Given the description of an element on the screen output the (x, y) to click on. 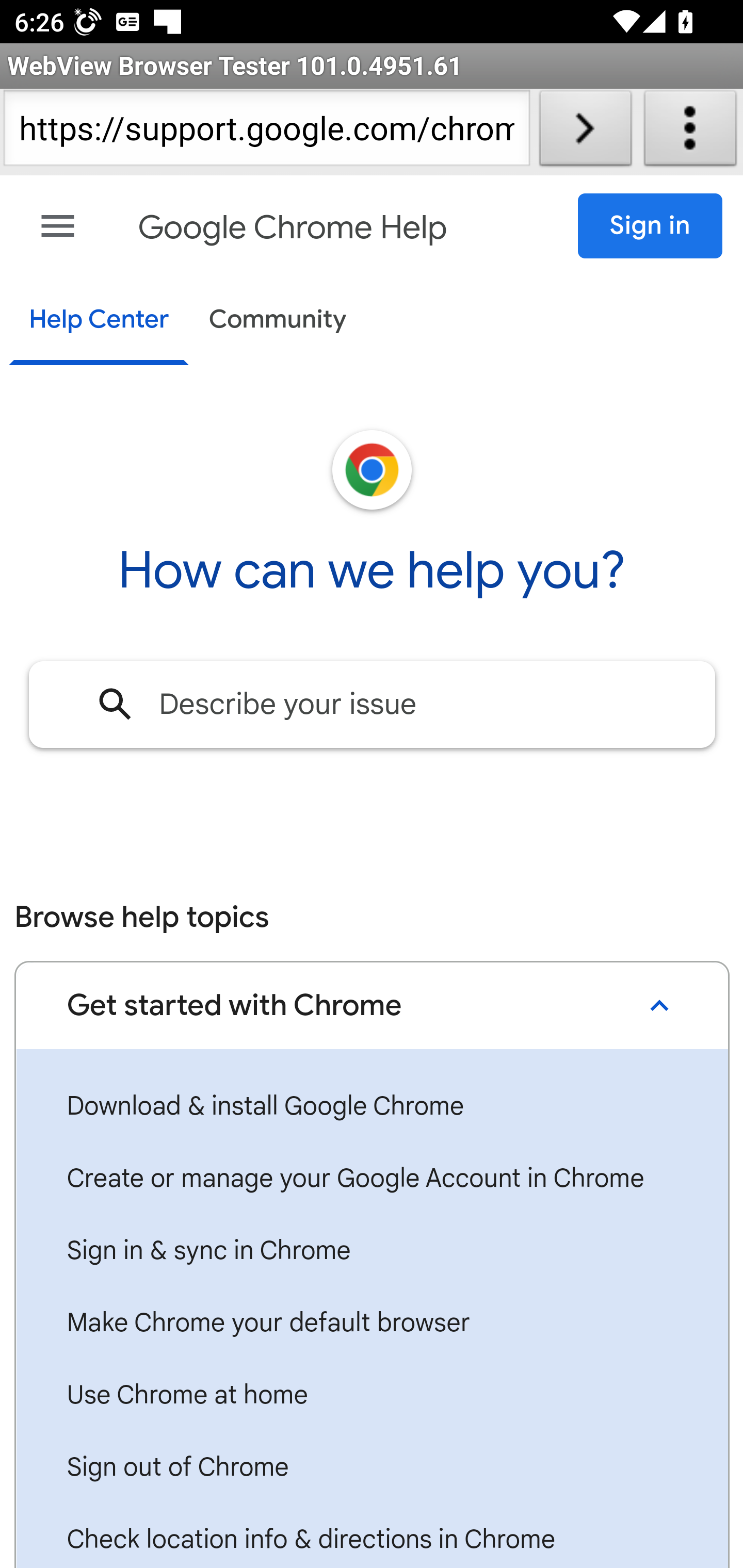
Load URL (585, 132)
About WebView (690, 132)
Main menu (58, 226)
Google Chrome Help (292, 227)
Sign in (650, 226)
Help Center (98, 320)
Community (277, 320)
Search (116, 703)
Download & install Google Chrome (371, 1106)
Create or manage your Google Account in Chrome (371, 1179)
Sign in & sync in Chrome (371, 1251)
Make Chrome your default browser (371, 1323)
Use Chrome at home (371, 1396)
Sign out of Chrome (371, 1468)
Check location info & directions in Chrome (371, 1535)
